Given the description of an element on the screen output the (x, y) to click on. 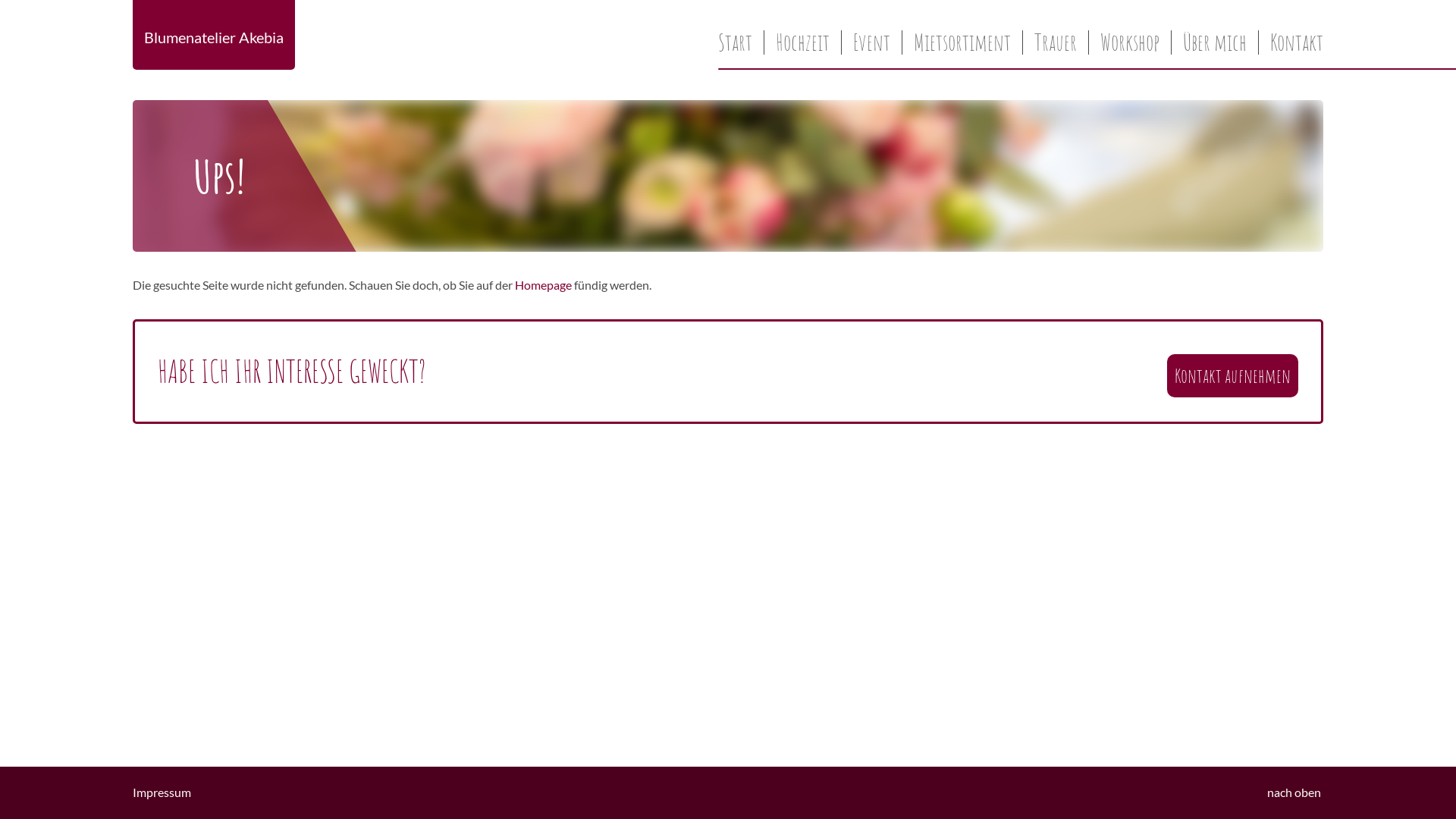
Kontakt aufnehmen Element type: text (1232, 371)
Hochzeit Element type: text (802, 42)
Trauer Element type: text (1055, 42)
Mietsortiment Element type: text (962, 42)
Kontakt aufnehmen Element type: text (1232, 375)
nach oben Element type: text (1295, 791)
Event Element type: text (871, 42)
Kontakt Element type: text (1290, 42)
Workshop Element type: text (1129, 42)
zum
Start Element type: text (734, 42)
Blumenatelier Akebia Element type: text (213, 37)
Homepage Element type: text (542, 284)
Impressum Element type: text (161, 791)
